Given the description of an element on the screen output the (x, y) to click on. 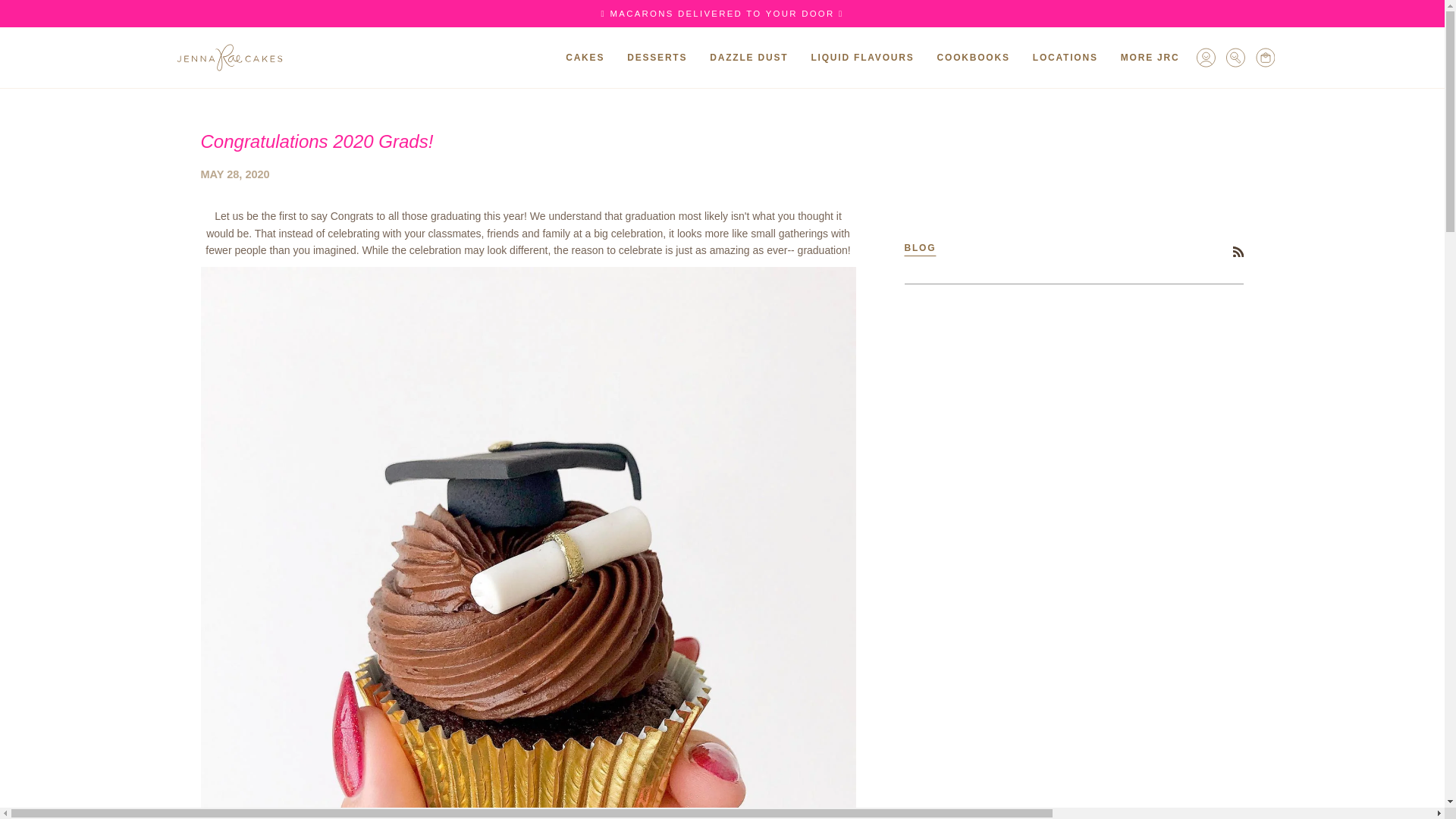
CAKES (584, 57)
MACARONS DELIVERED TO YOUR DOOR (722, 13)
DESSERTS (656, 57)
